Given the description of an element on the screen output the (x, y) to click on. 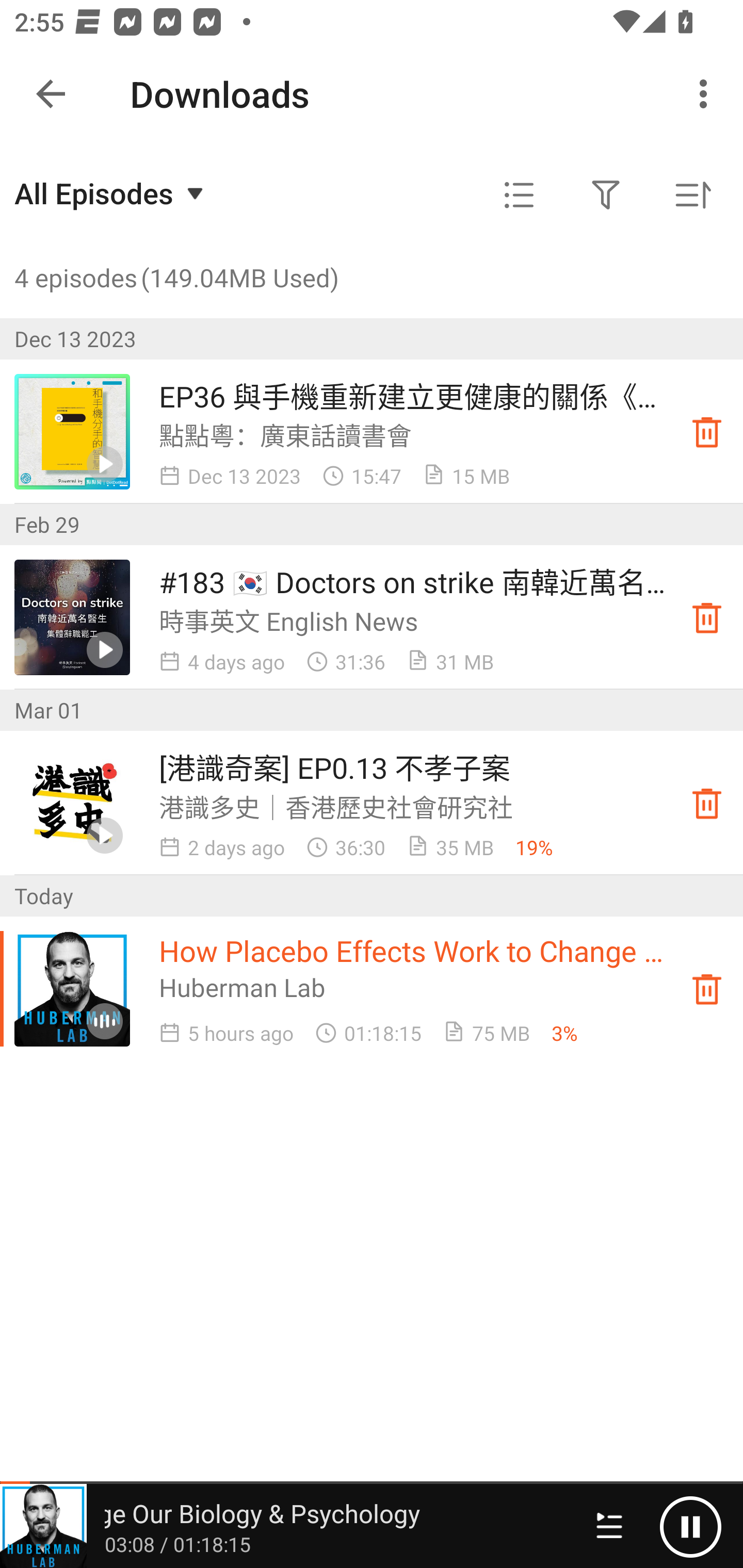
5.0 Downloading 1 episode VIEW (371, 88)
Navigate up (50, 93)
More options (706, 93)
All Episodes (111, 192)
 (518, 195)
 (605, 195)
 Sorted by oldest first (692, 195)
Downloaded (706, 431)
Downloaded (706, 617)
Downloaded (706, 802)
Downloaded (706, 988)
Pause (690, 1526)
